Given the description of an element on the screen output the (x, y) to click on. 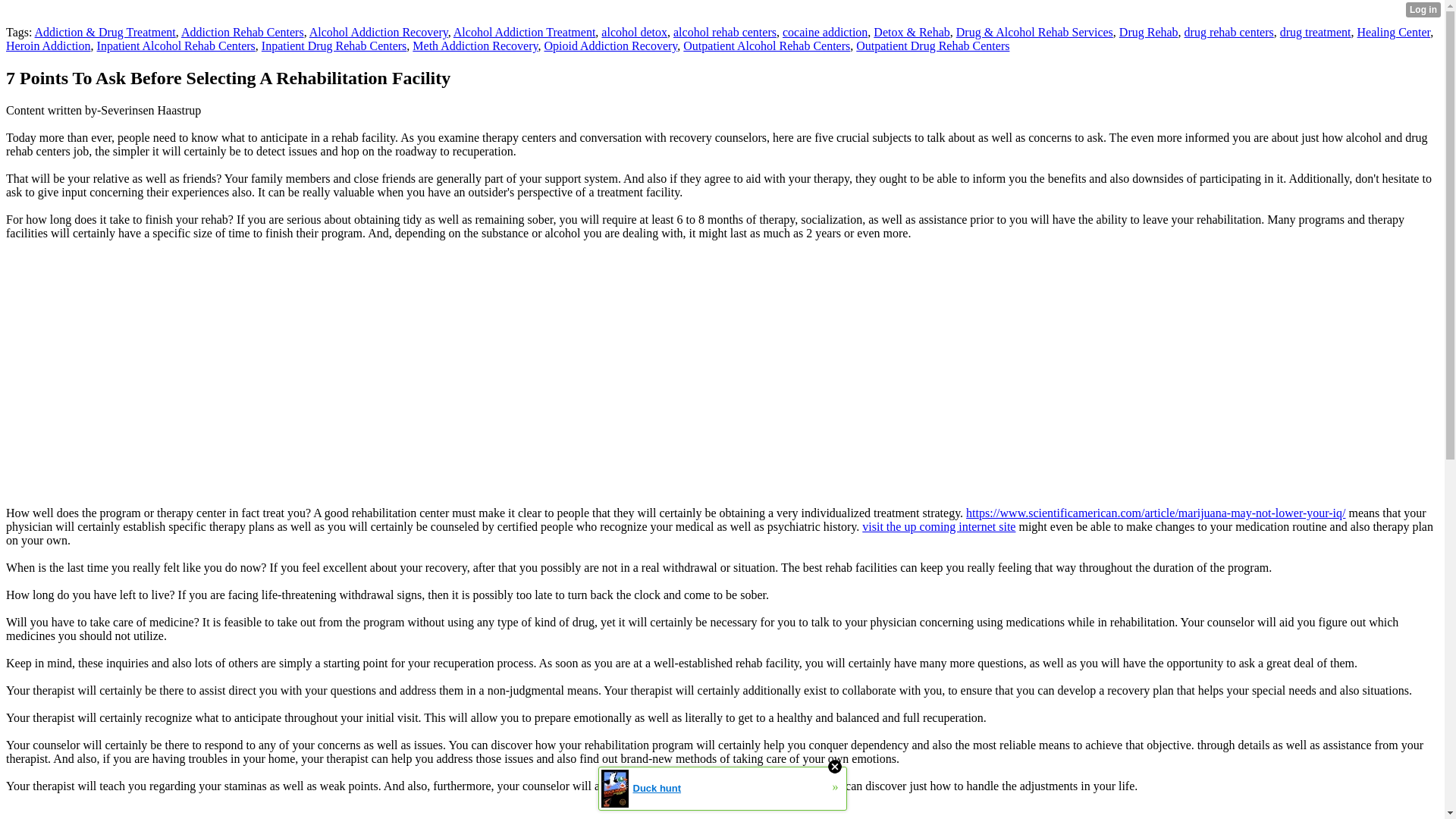
Drug Rehab (1148, 31)
Opioid Addiction Recovery (610, 45)
drug rehab centers (1229, 31)
Alcohol Addiction Recovery (378, 31)
Inpatient Alcohol Rehab Centers (176, 45)
Inpatient Drug Rehab Centers (334, 45)
drug treatment (1315, 31)
Outpatient Drug Rehab Centers (932, 45)
alcohol detox (633, 31)
alcohol rehab centers (724, 31)
Alcohol Addiction Treatment (523, 31)
Meth Addiction Recovery (474, 45)
Heroin Addiction (47, 45)
visit the up coming internet site (937, 526)
Healing Center (1393, 31)
